Given the description of an element on the screen output the (x, y) to click on. 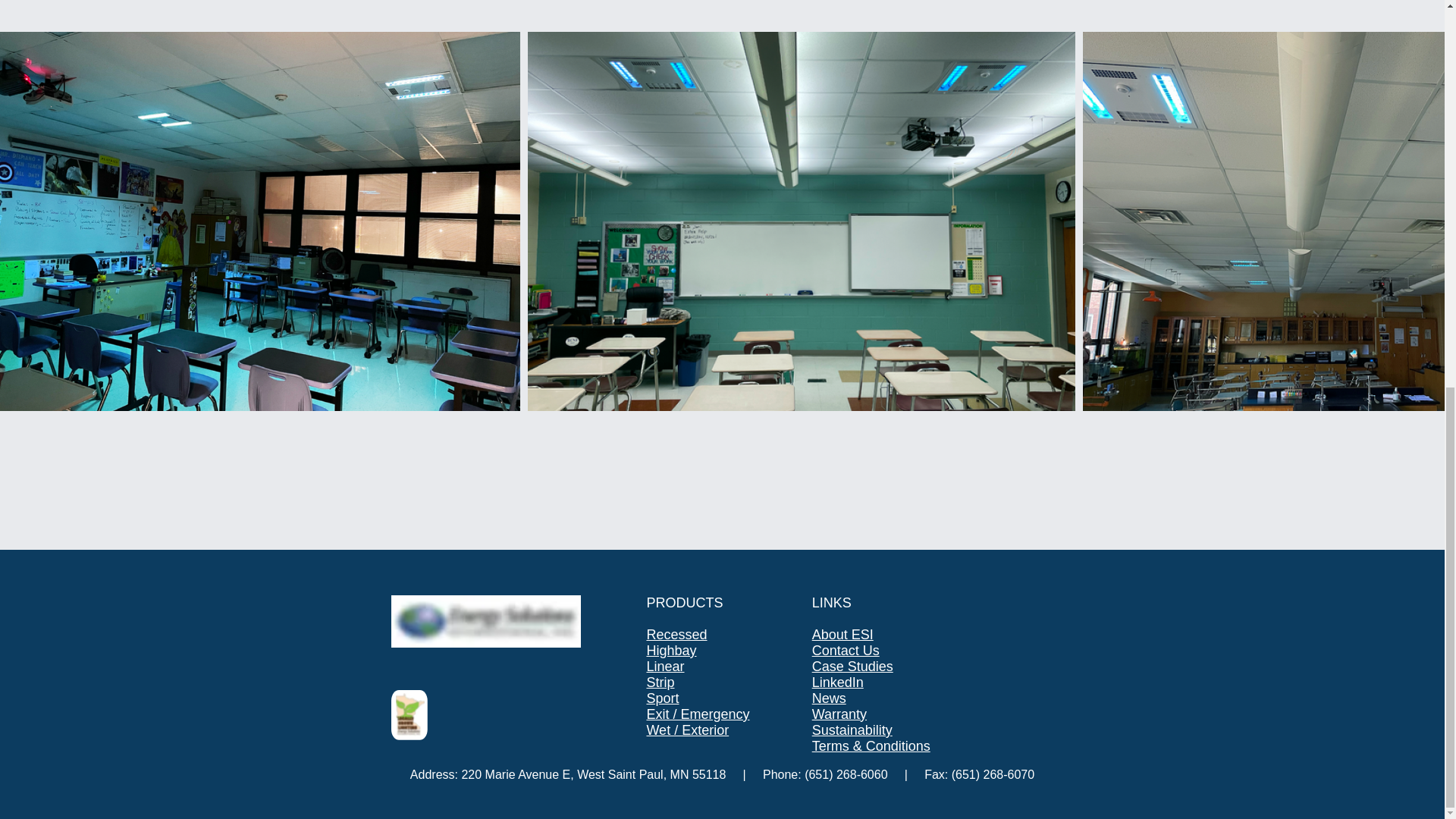
Warranty (839, 713)
About ESI (842, 634)
LinkedIn (837, 682)
News (828, 698)
Recessed (676, 634)
Case Studies (852, 666)
Contact Us (845, 650)
